Given the description of an element on the screen output the (x, y) to click on. 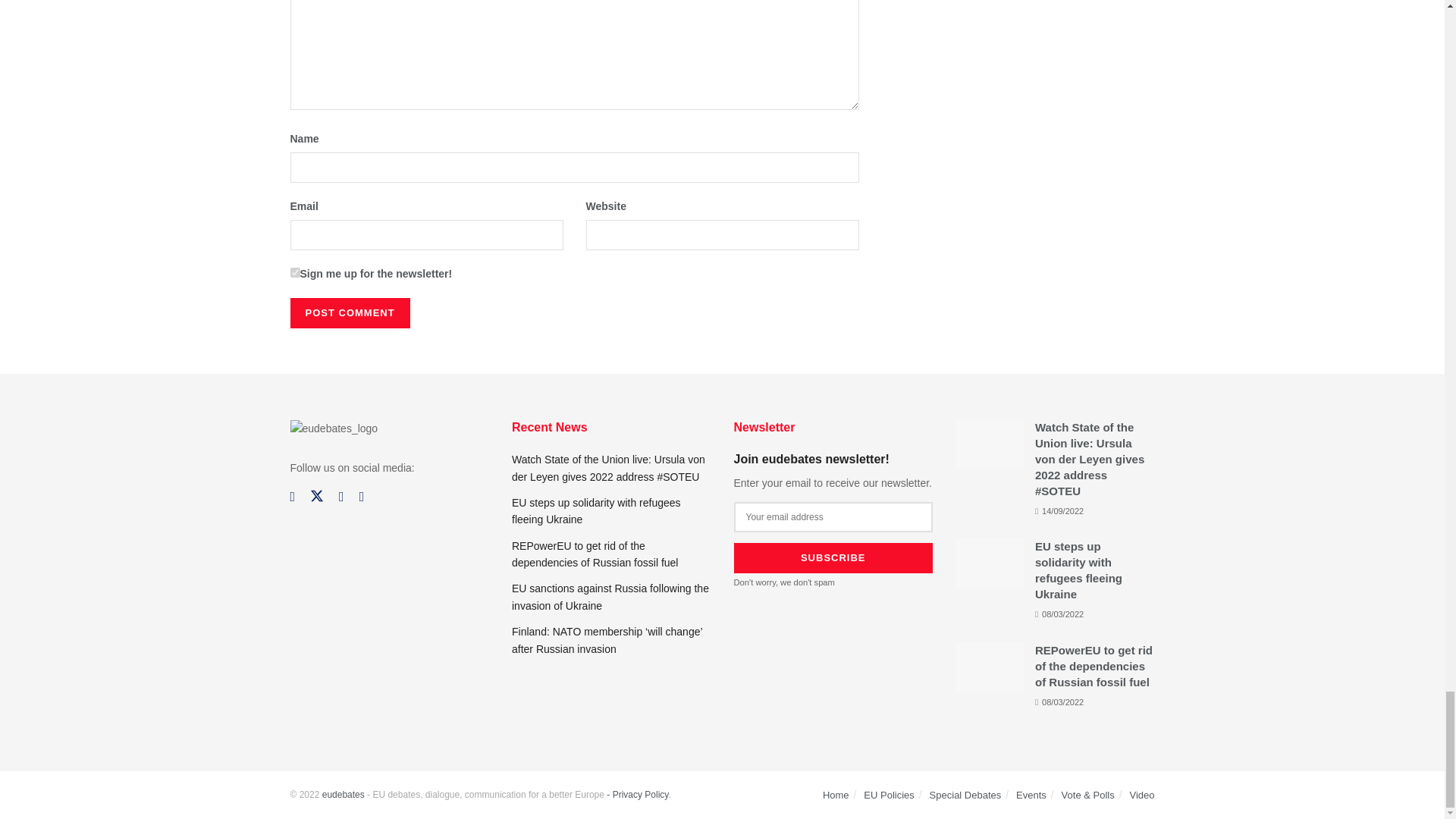
EU Policies (888, 794)
1 (294, 272)
Subscribe (833, 557)
Post Comment (349, 313)
Home (835, 794)
